Given the description of an element on the screen output the (x, y) to click on. 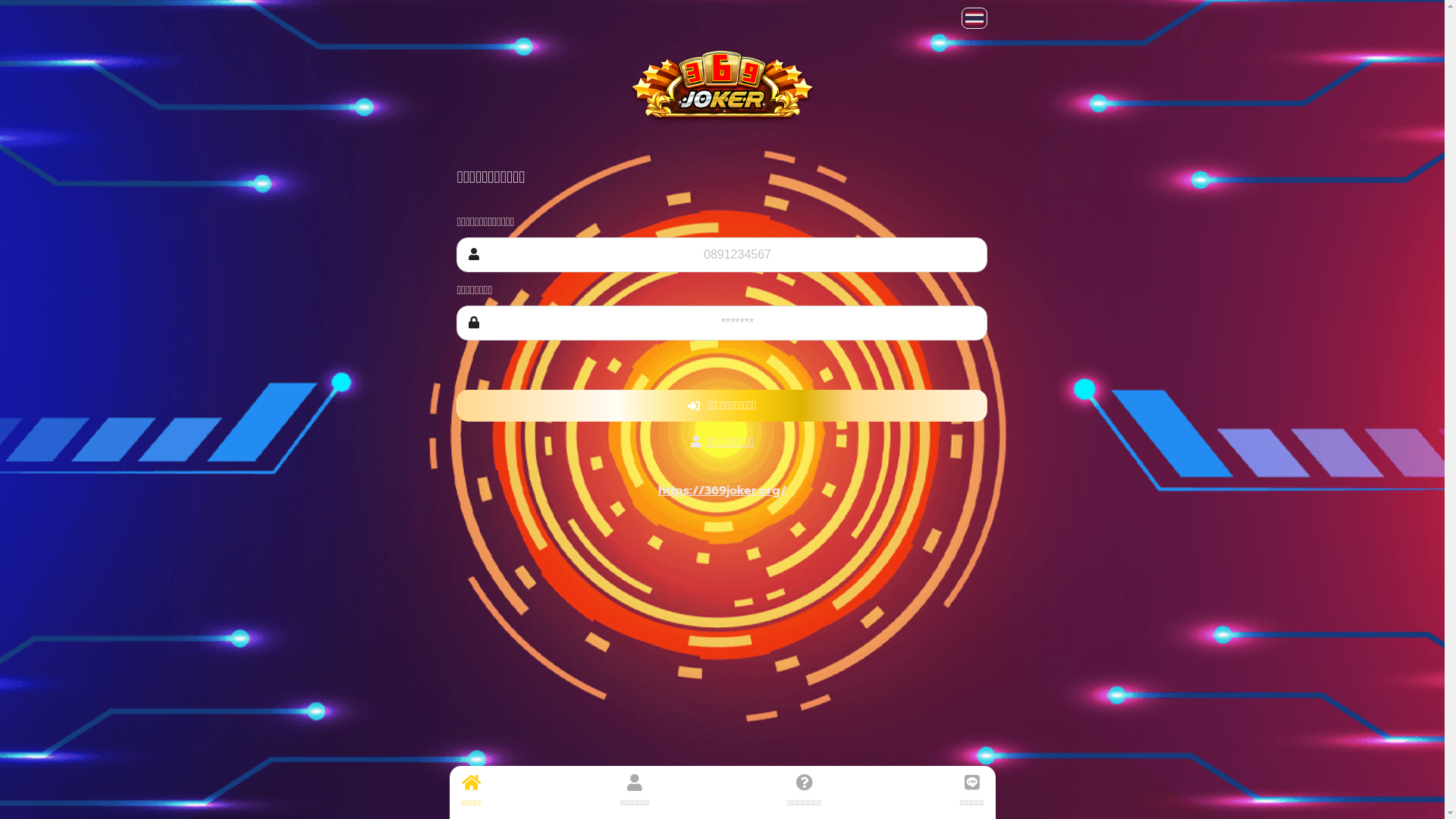
https://369joker.org/ Element type: text (722, 490)
